Given the description of an element on the screen output the (x, y) to click on. 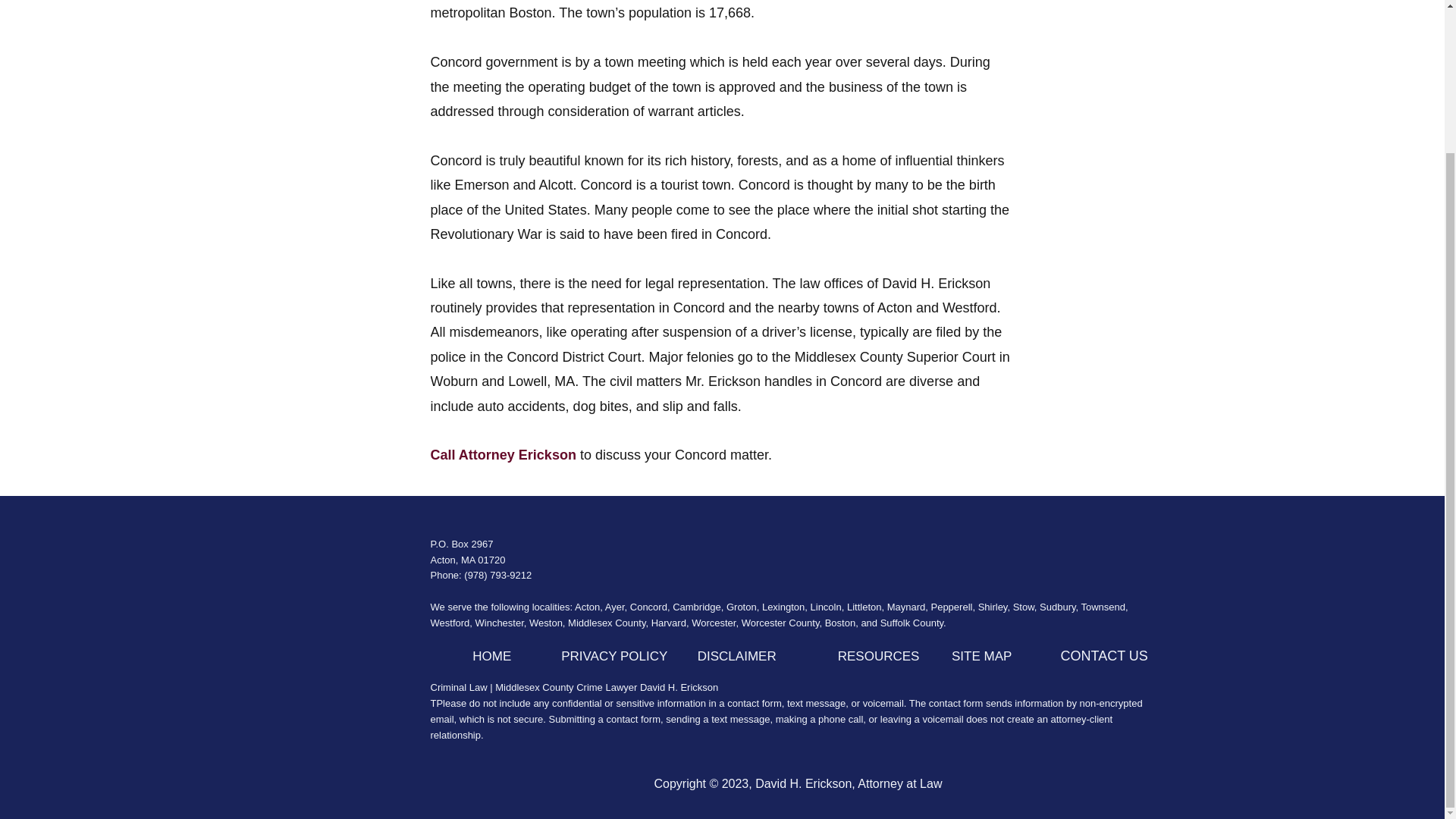
DISCLAIMER (736, 656)
RESOURCES (879, 656)
CONTACT US (1104, 656)
Call Attorney Erickson (503, 455)
PRIVACY POLICY (613, 656)
HOME (491, 656)
SITE MAP (981, 656)
